Given the description of an element on the screen output the (x, y) to click on. 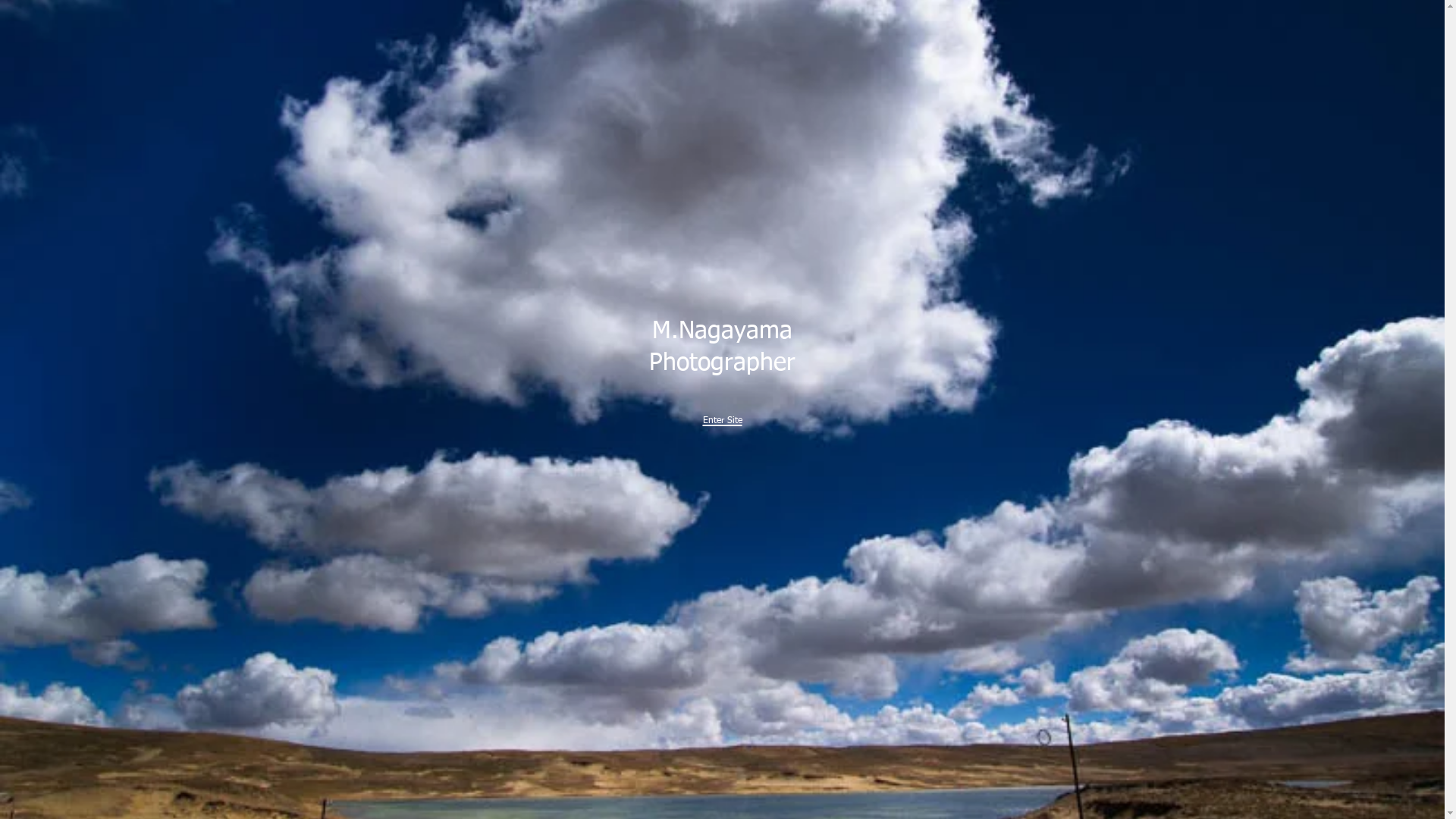
Enter Site Element type: text (721, 415)
